Given the description of an element on the screen output the (x, y) to click on. 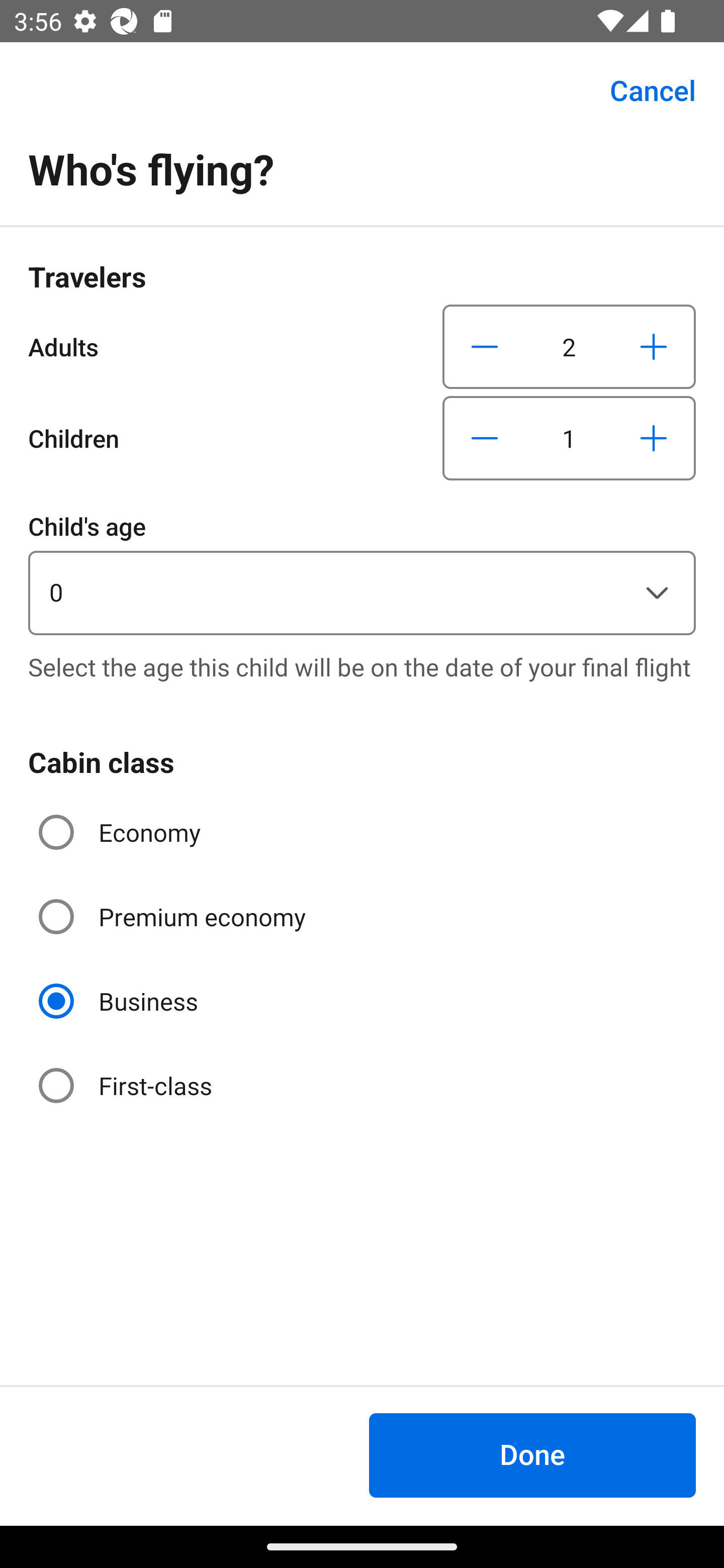
Cancel (641, 90)
Decrease (484, 346)
Increase (653, 346)
Decrease (484, 437)
Increase (653, 437)
Child's age
 Child's age 0 (361, 571)
Economy (121, 832)
Premium economy (174, 916)
Business (120, 1000)
First-class (126, 1084)
Done (532, 1454)
